Given the description of an element on the screen output the (x, y) to click on. 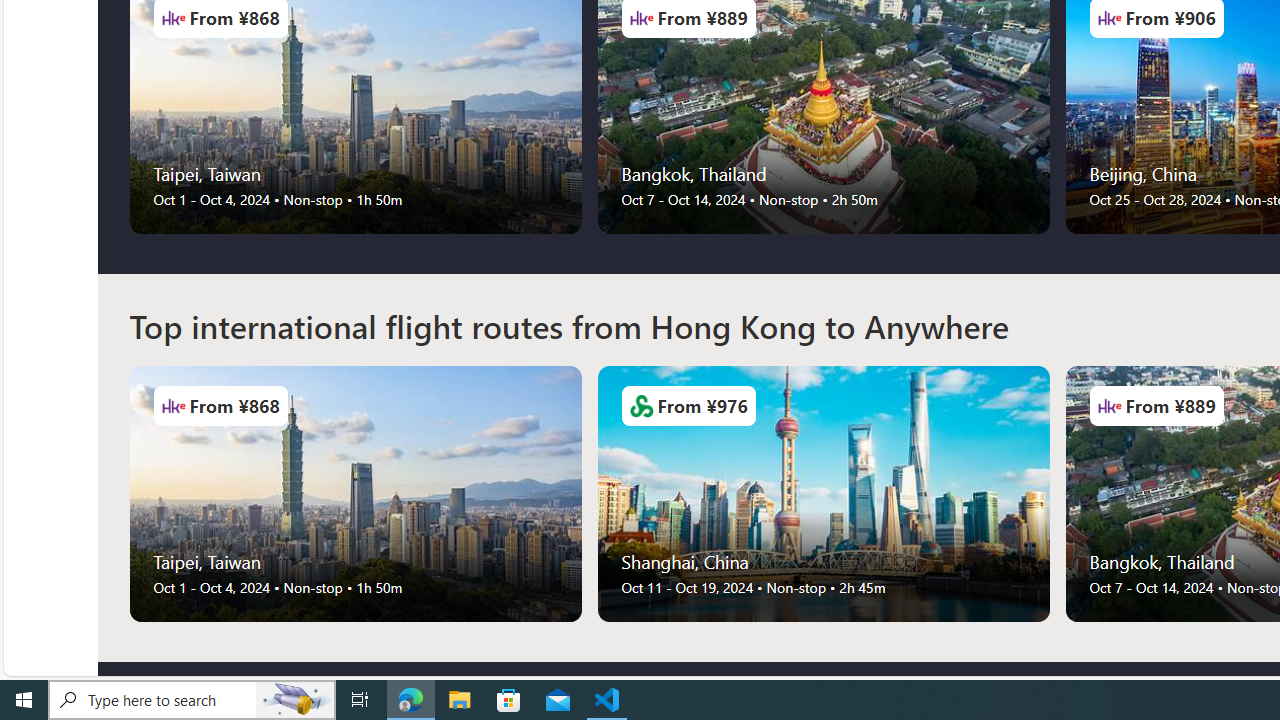
Airlines Logo (1109, 405)
